Given the description of an element on the screen output the (x, y) to click on. 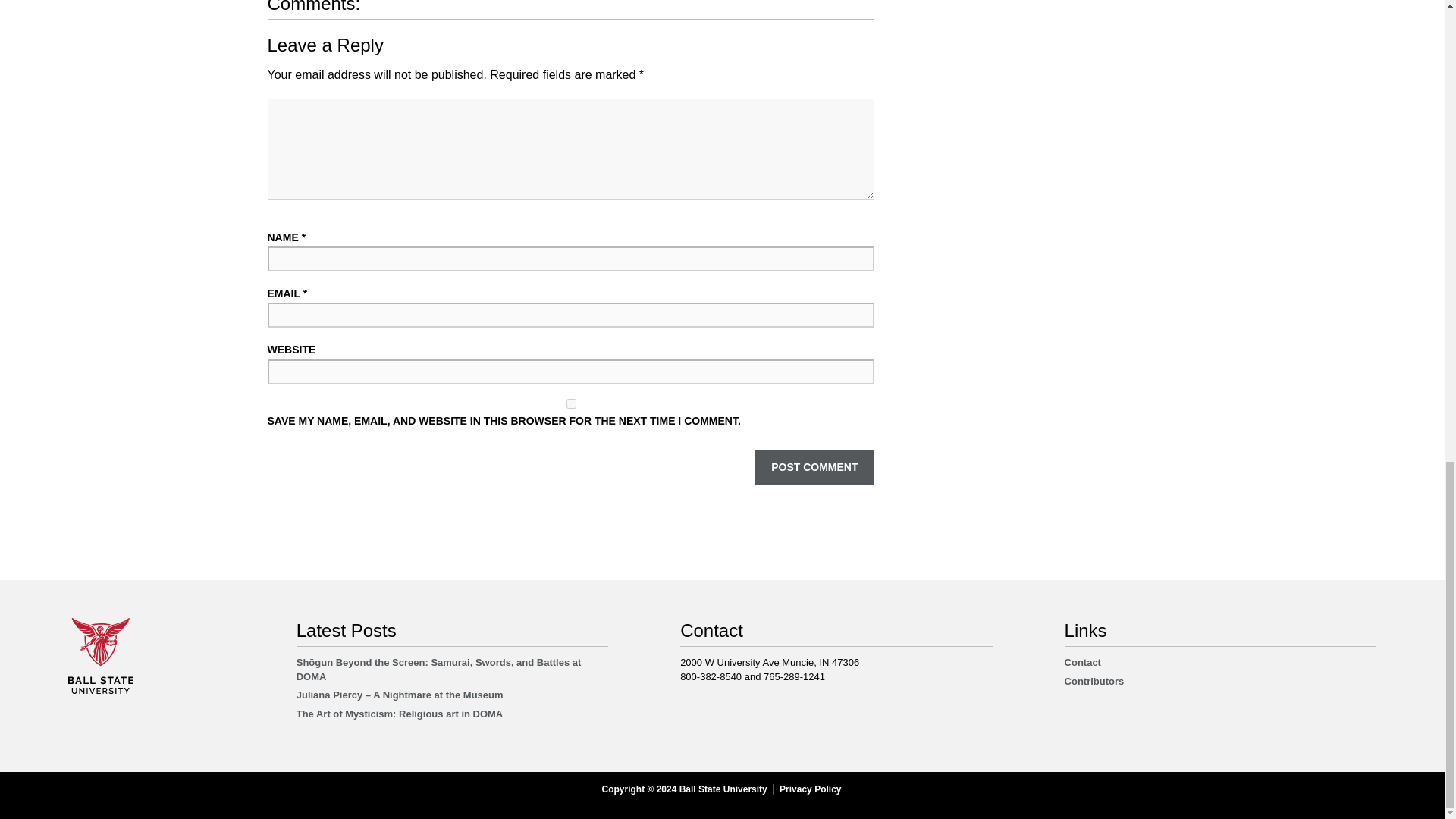
Contact (1082, 662)
The Art of Mysticism: Religious art in DOMA  (401, 713)
Learn more about Ball State University (100, 690)
Post Comment (814, 466)
Contributors (1094, 681)
Post Comment (814, 466)
yes (569, 403)
Privacy Policy (809, 788)
